Given the description of an element on the screen output the (x, y) to click on. 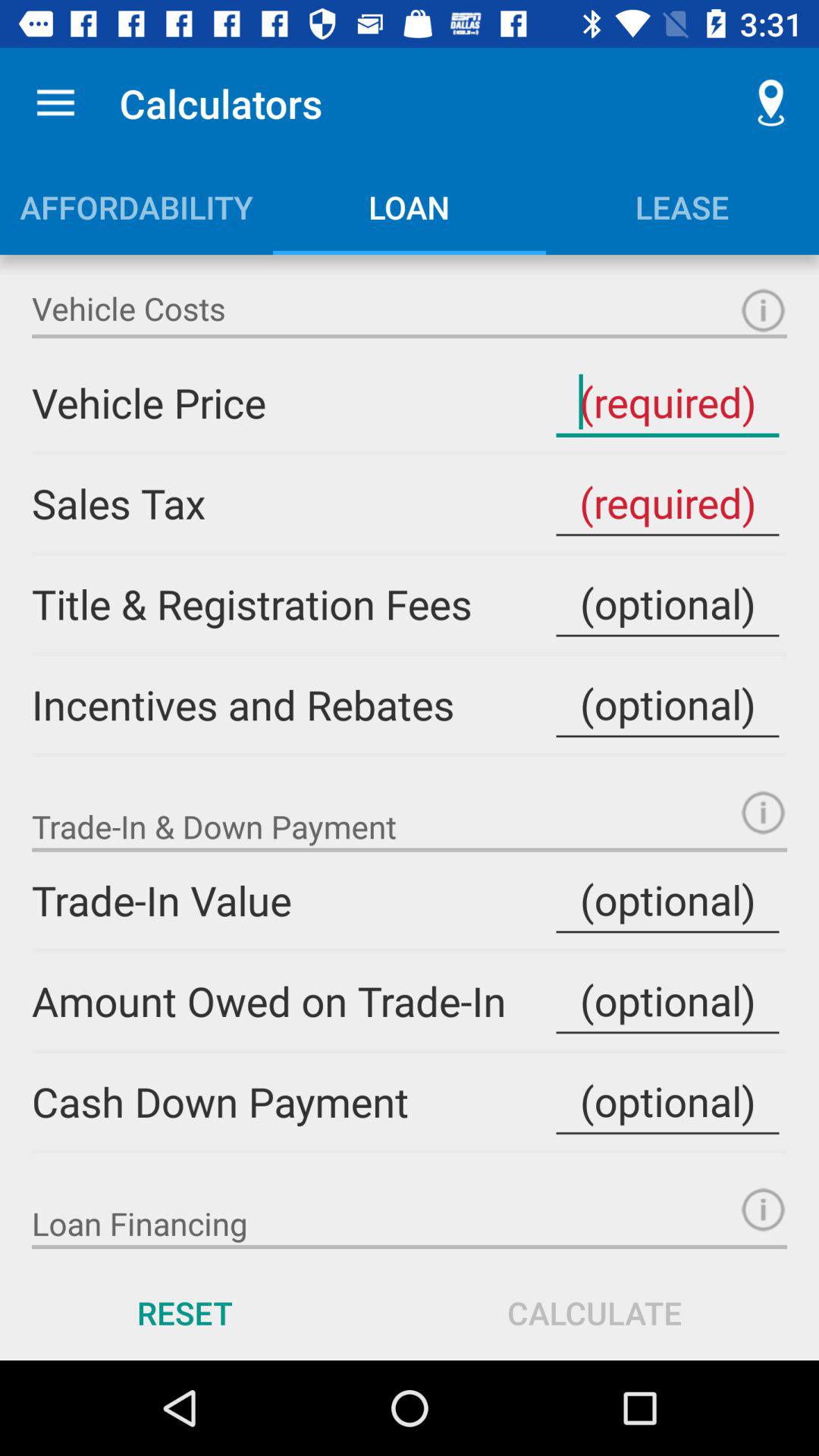
enter price (667, 402)
